Given the description of an element on the screen output the (x, y) to click on. 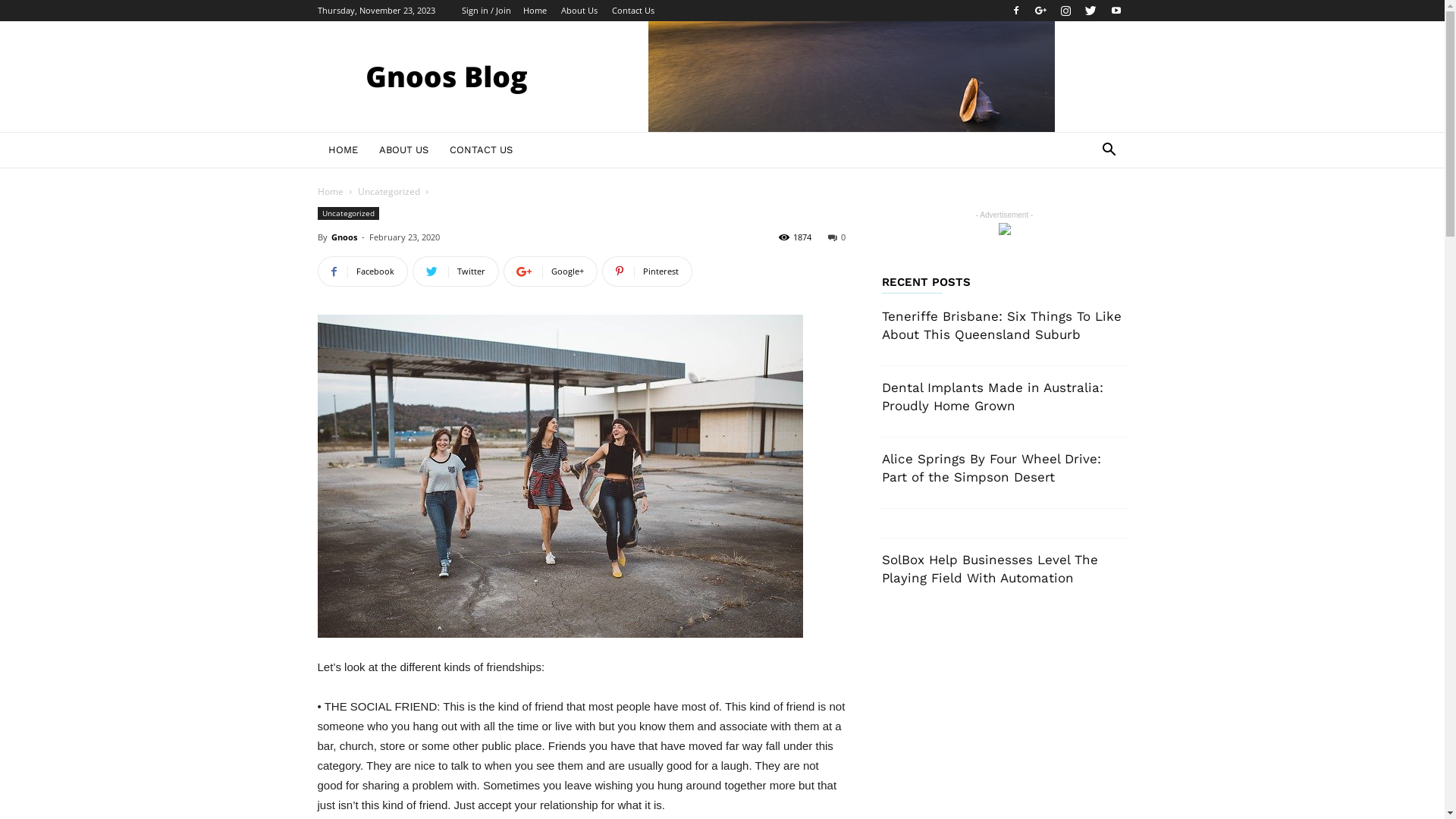
Youtube Element type: hover (1115, 10)
ABOUT US Element type: text (403, 149)
Uncategorized Element type: text (347, 213)
girls-1031538_640 Element type: hover (559, 475)
Home Element type: text (329, 191)
Twitter Element type: hover (1090, 10)
Sign in / Join Element type: text (485, 9)
Twitter Element type: text (455, 271)
Dental Implants Made in Australia: Proudly Home Grown Element type: text (991, 396)
CONTACT US Element type: text (480, 149)
Pinterest Element type: text (647, 271)
Gnoos Element type: text (343, 236)
Google+ Element type: hover (1040, 10)
Instagram Element type: hover (1065, 10)
0 Element type: text (836, 236)
Contact Us Element type: text (632, 9)
Search Element type: text (1085, 210)
Facebook Element type: text (361, 271)
Google+ Element type: text (550, 271)
Uncategorized Element type: text (388, 191)
HOME Element type: text (341, 149)
Home Element type: text (534, 9)
About Us Element type: text (579, 9)
Facebook Element type: hover (1015, 10)
